Given the description of an element on the screen output the (x, y) to click on. 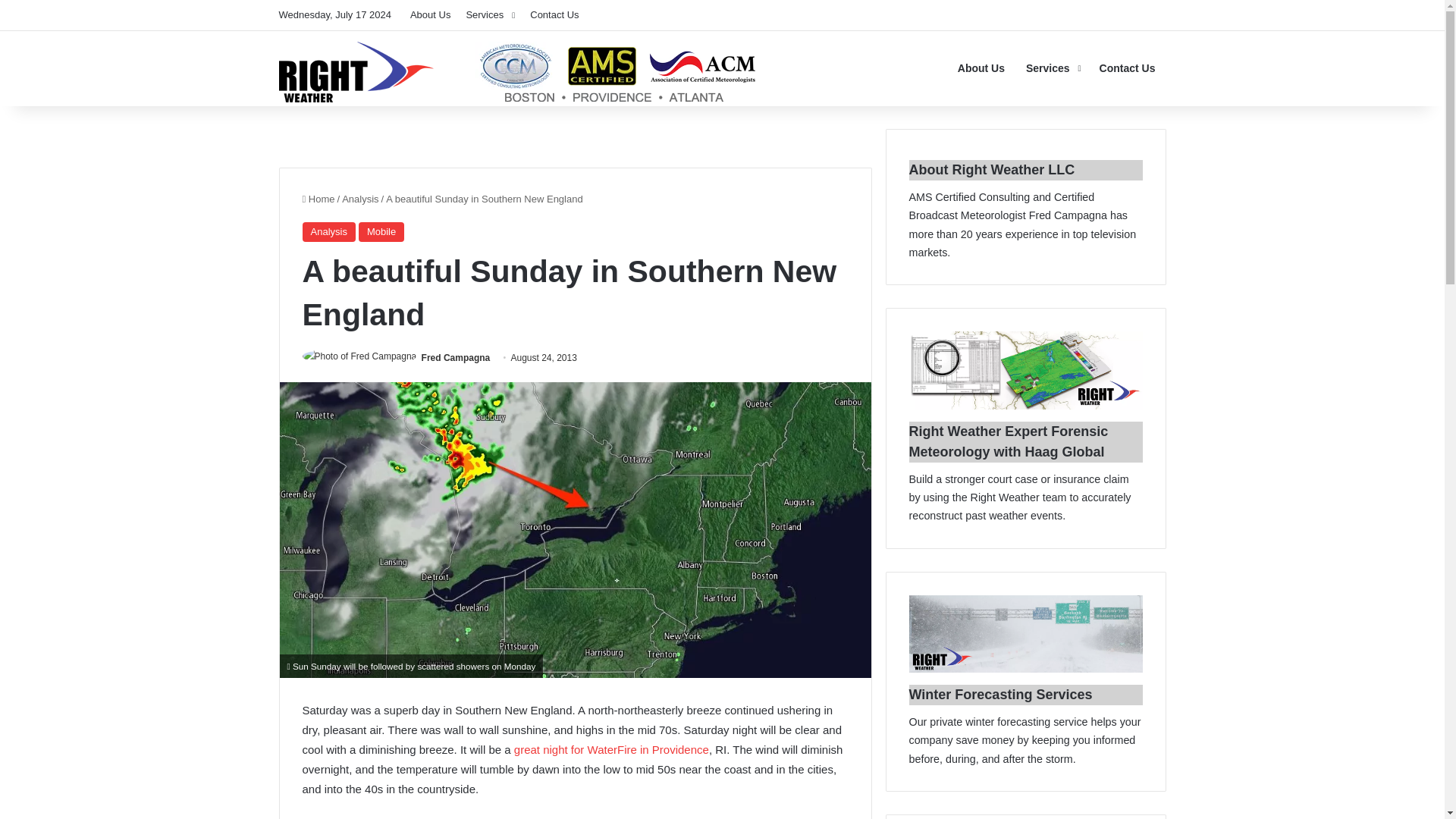
Mobile (381, 231)
About Us (980, 68)
Contact Us (1127, 68)
Contact Us (554, 15)
Event Forecast: Providence WaterFire Saturday (610, 748)
Fred Campagna (456, 357)
Services (490, 15)
Analysis (328, 231)
Analysis (360, 198)
Home (317, 198)
great night for WaterFire in Providence (610, 748)
About Us (430, 15)
Services (1051, 68)
Right Weather LLC (518, 71)
Fred Campagna (456, 357)
